Given the description of an element on the screen output the (x, y) to click on. 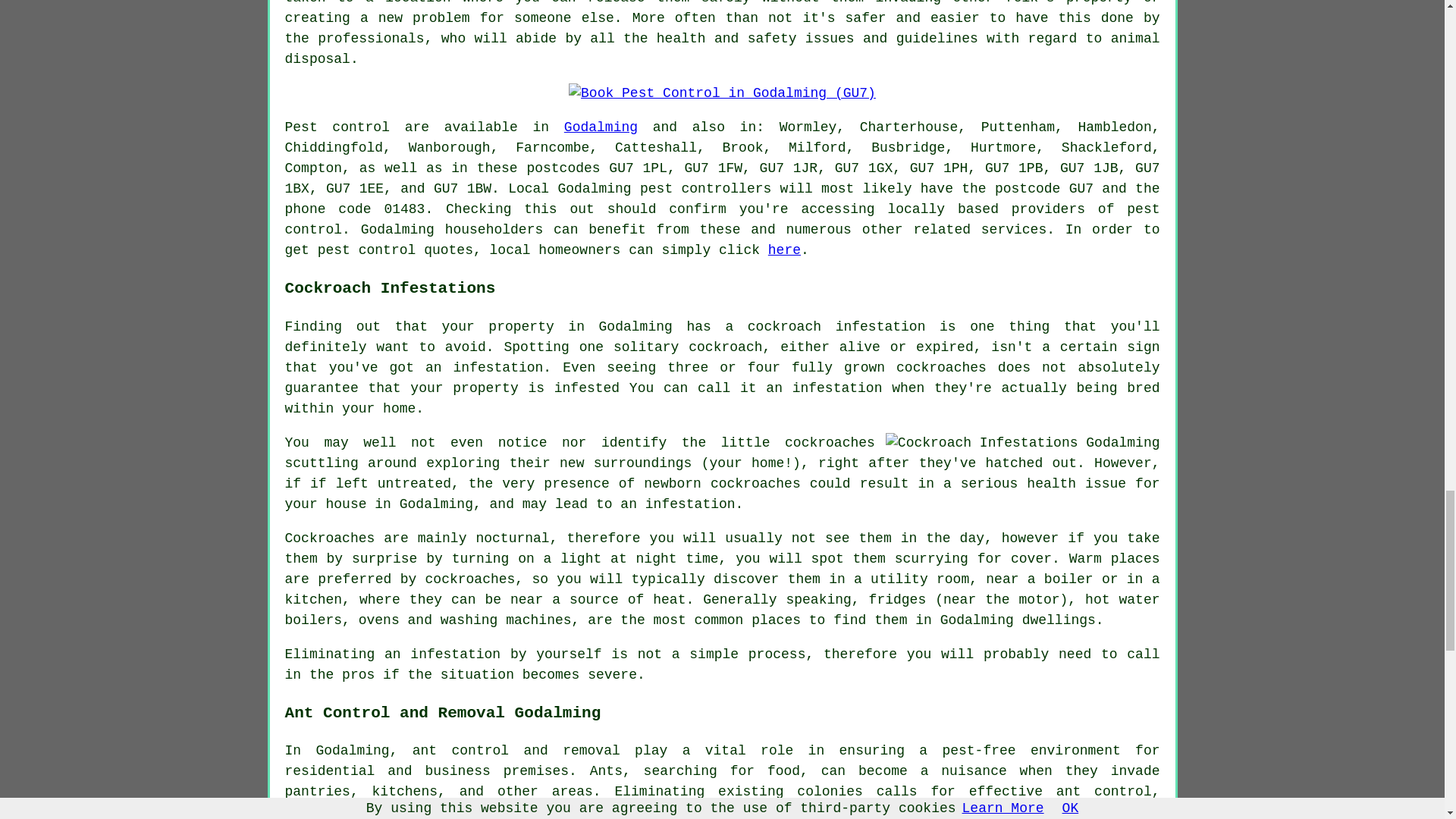
Cockroach Infestations Godalming (1022, 443)
Pest control (337, 127)
